Given the description of an element on the screen output the (x, y) to click on. 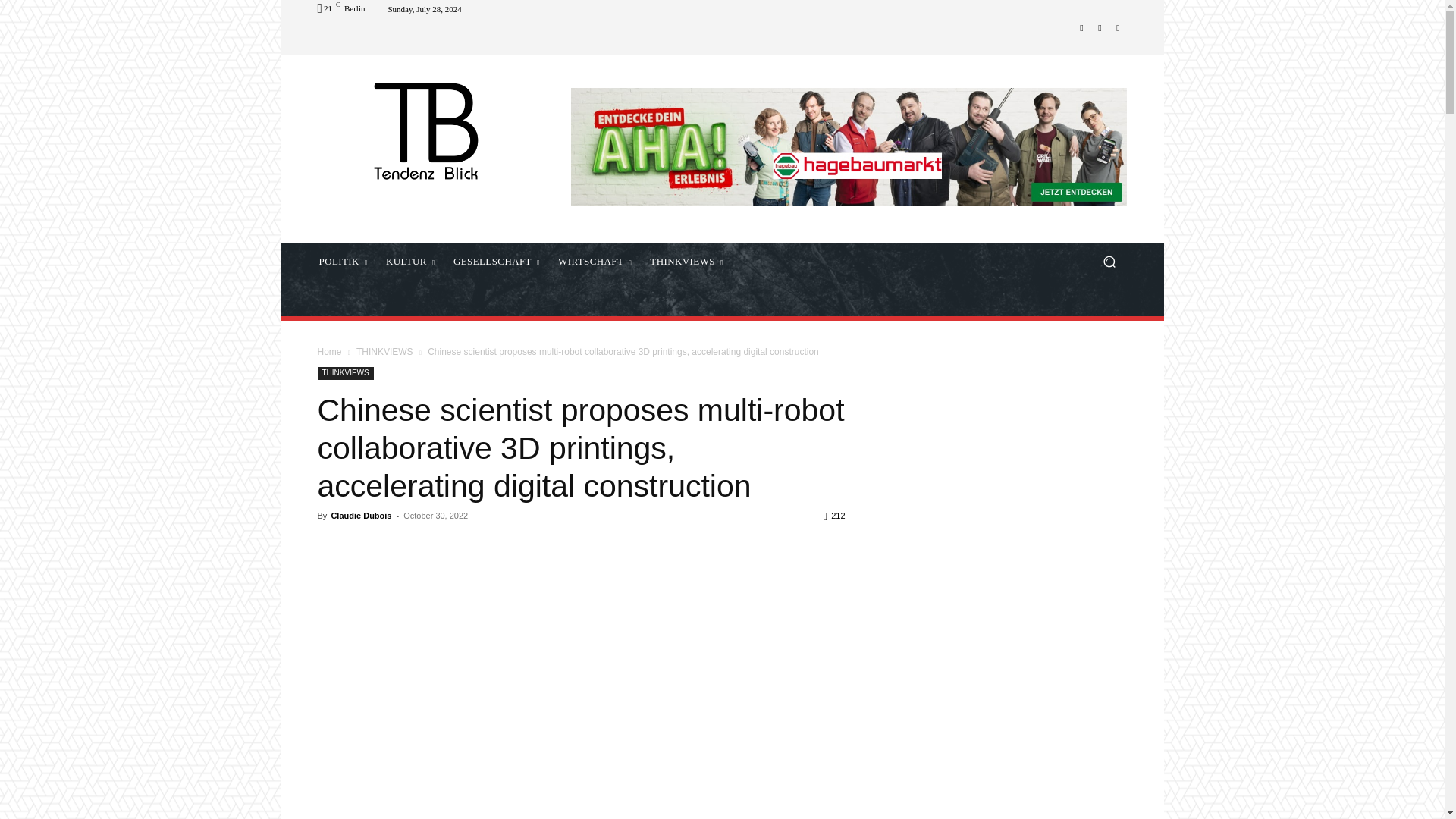
POLITIK (341, 261)
KULTUR (410, 261)
Twitter (1099, 27)
Youtube (1117, 27)
Facebook (1080, 27)
